Given the description of an element on the screen output the (x, y) to click on. 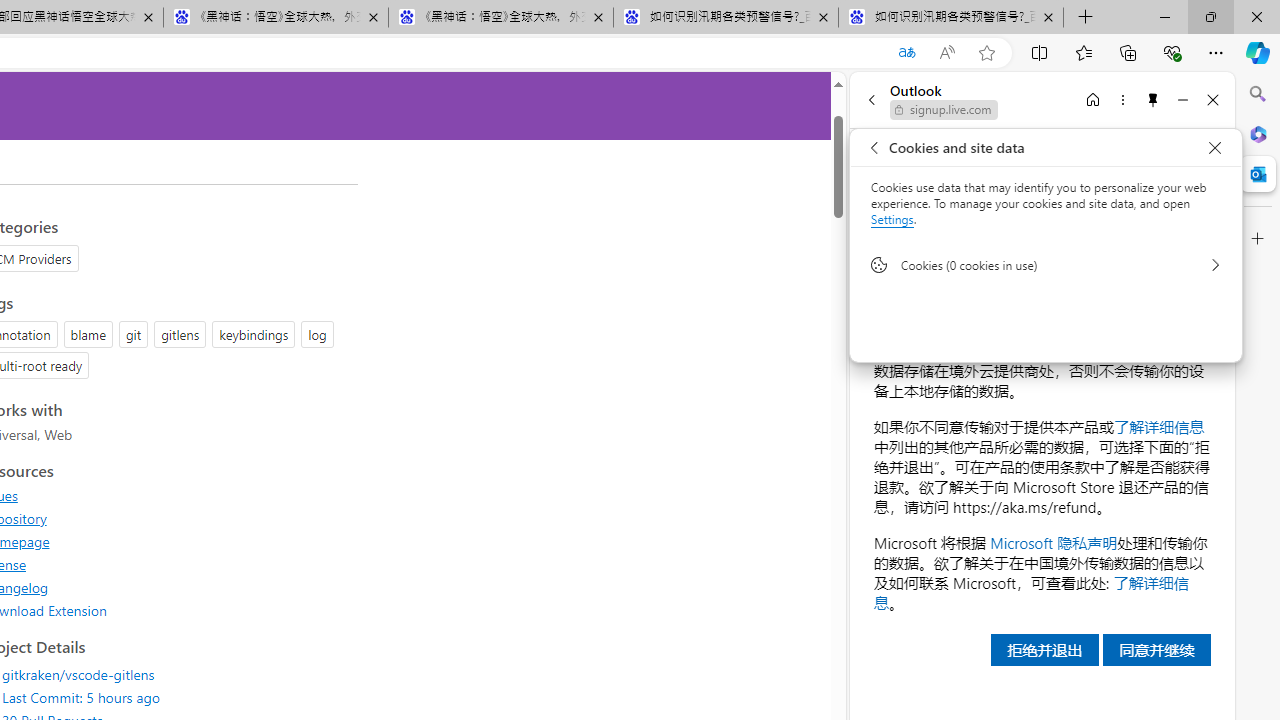
Cookies and site data (1214, 147)
Cookies (0 cookies in use) (1046, 264)
